Given the description of an element on the screen output the (x, y) to click on. 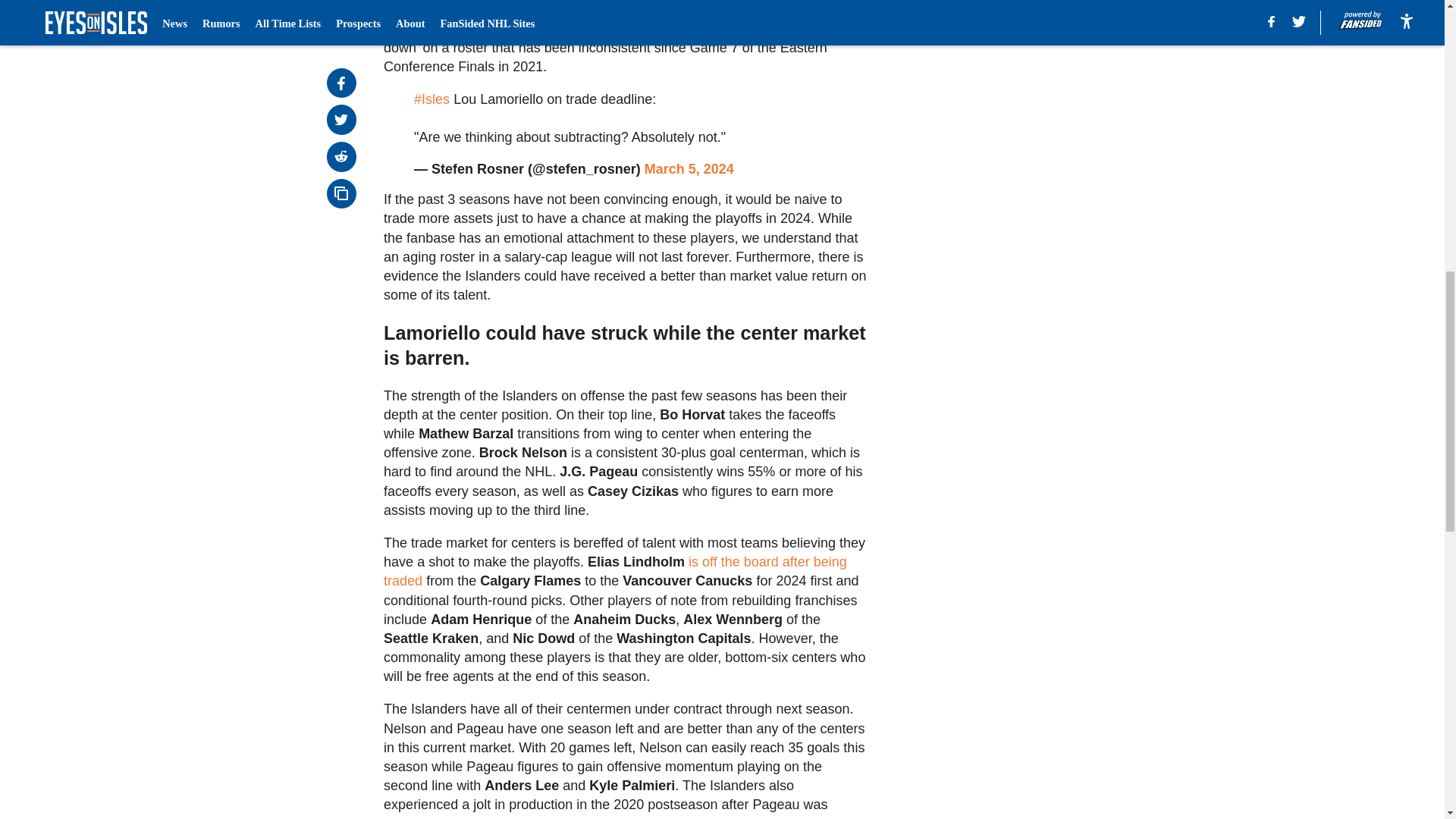
Lou Lamoriello recently left the door open to buying talent (590, 28)
March 5, 2024 (689, 168)
is off the board after being traded (615, 571)
